Given the description of an element on the screen output the (x, y) to click on. 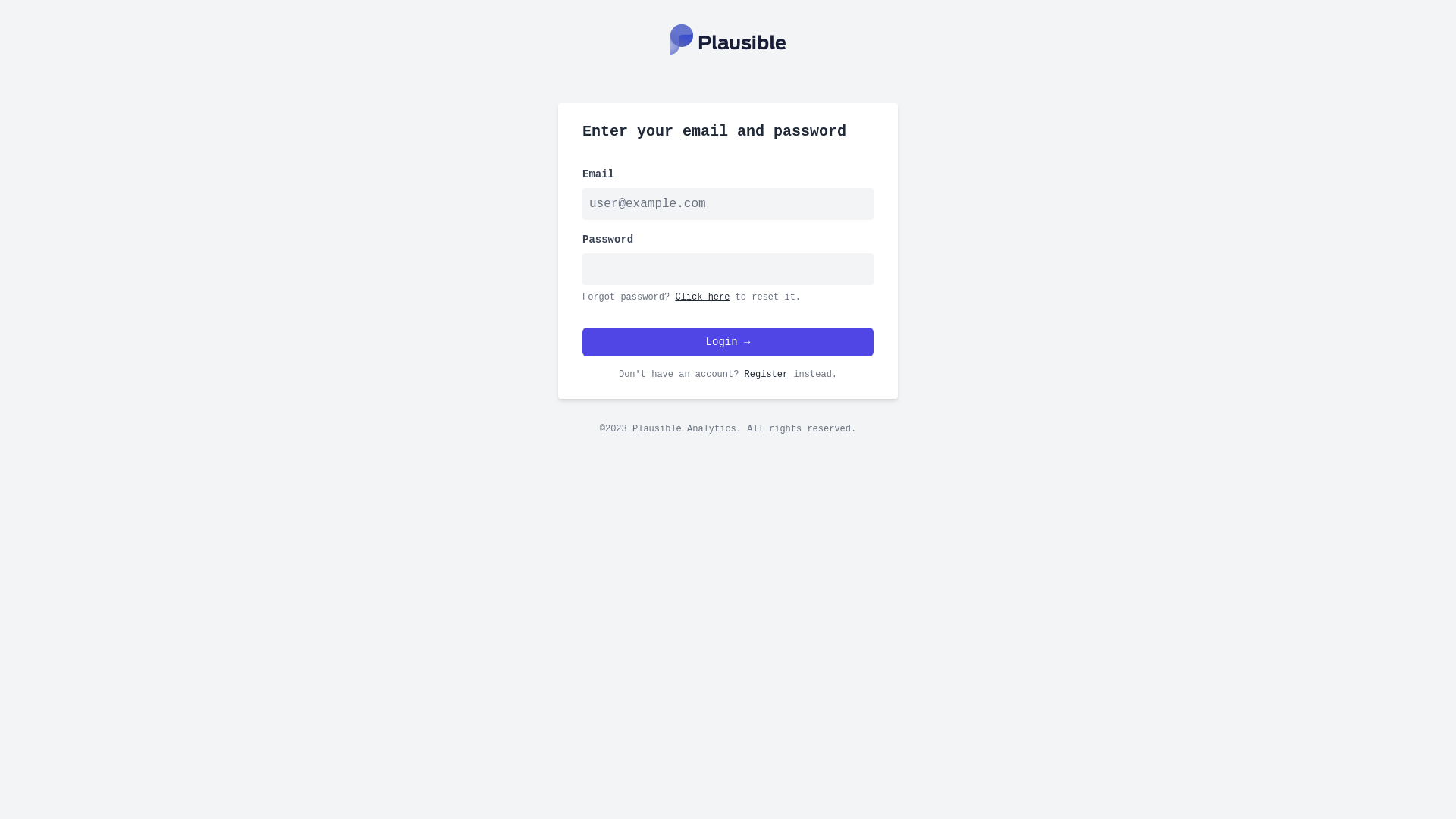
Click here Element type: text (701, 296)
Register Element type: text (766, 374)
